Given the description of an element on the screen output the (x, y) to click on. 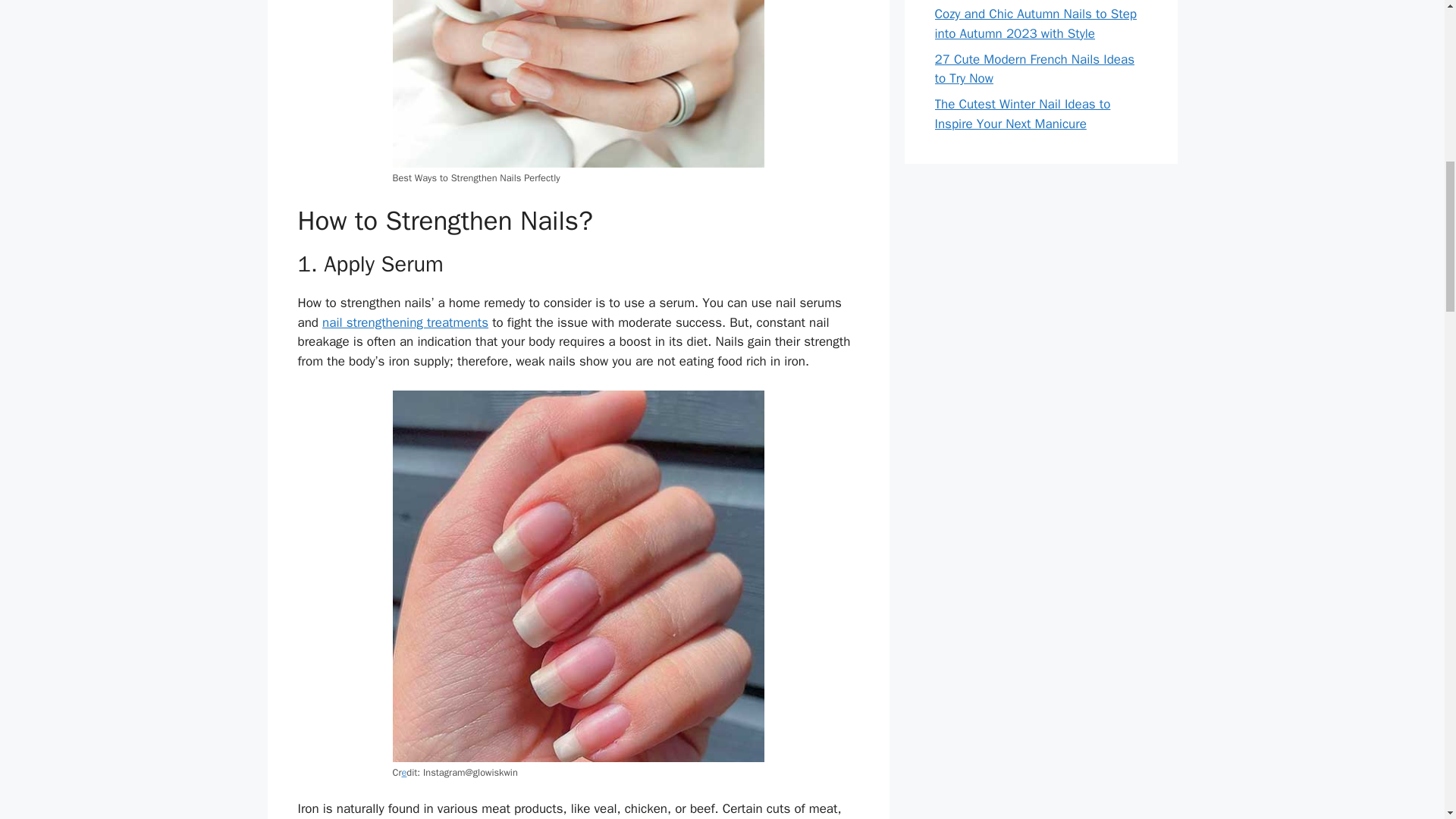
27 Cute Modern French Nails Ideas to Try Now (1034, 68)
nail strengthening treatments (404, 322)
Best Ways to Strengthen Nails Perfectly (578, 83)
The Cutest Winter Nail Ideas to Inspire Your Next Manicure (1021, 113)
